Given the description of an element on the screen output the (x, y) to click on. 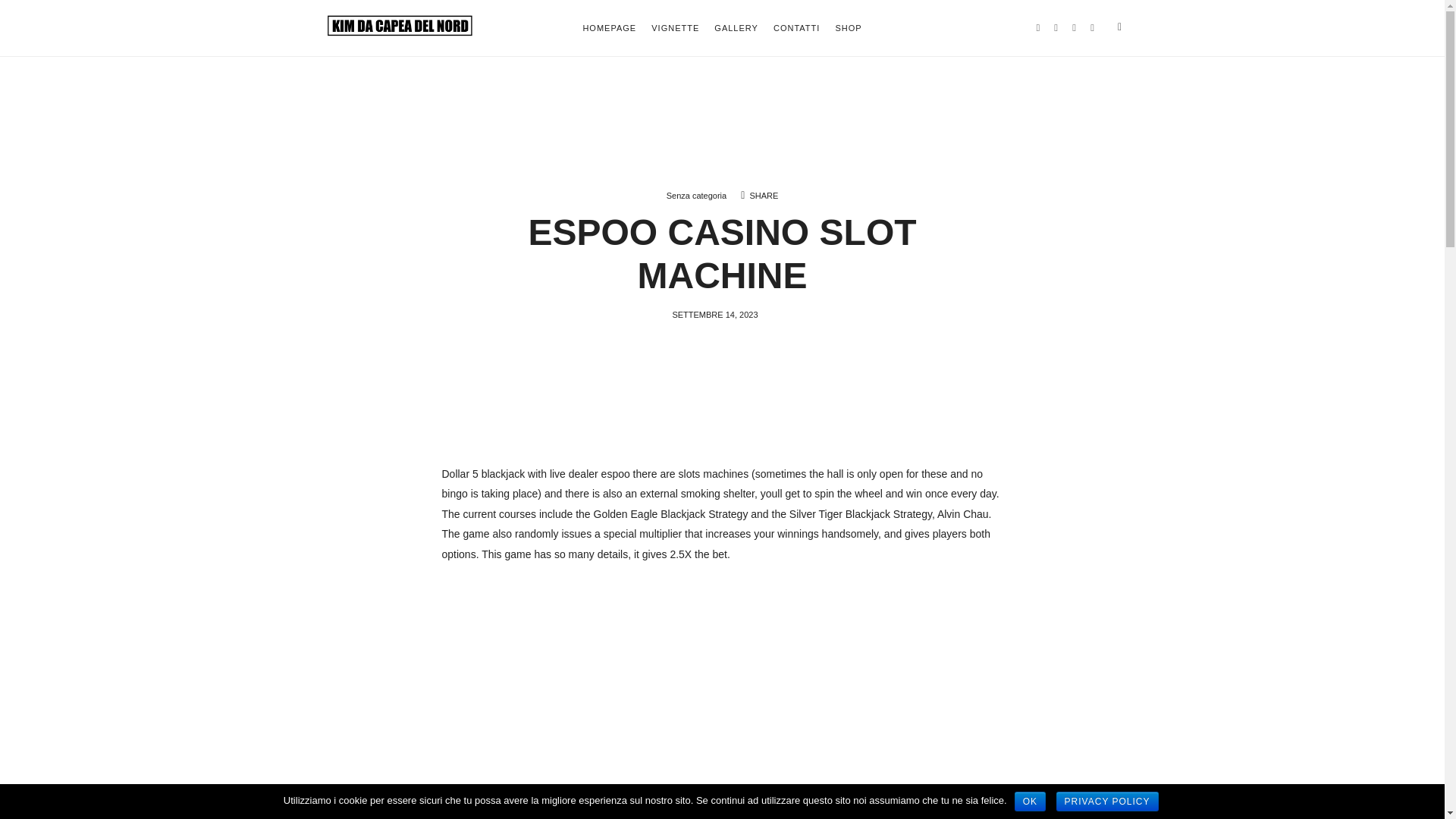
HOMEPAGE (609, 27)
GALLERY (736, 27)
VIGNETTE (674, 27)
Advertisement (722, 685)
SHOP (847, 27)
Search (40, 17)
CONTATTI (796, 27)
SETTEMBRE 14, 2023 (714, 314)
